Given the description of an element on the screen output the (x, y) to click on. 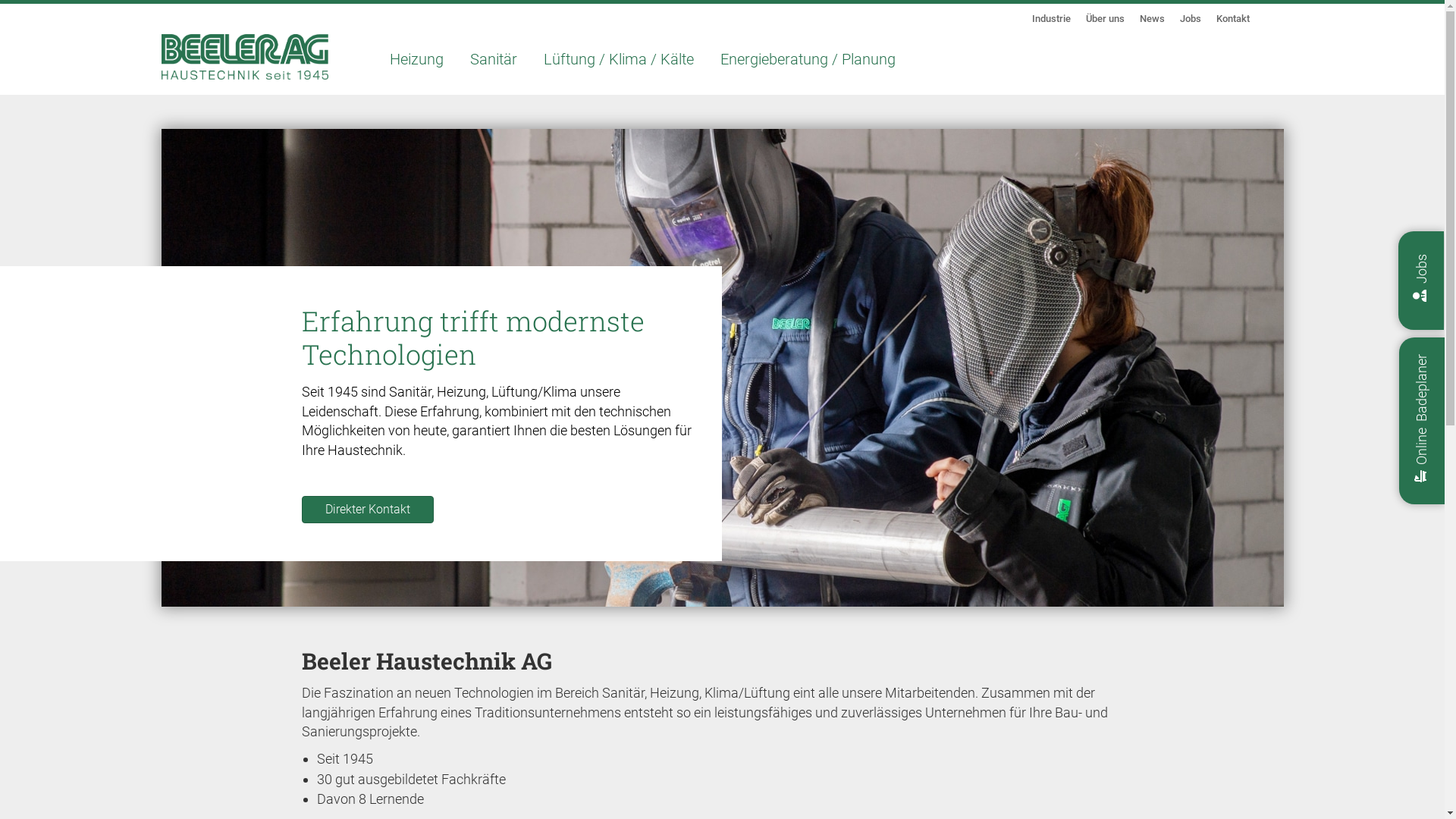
Energieberatung / Planung Element type: text (807, 59)
Jobs Element type: text (1190, 18)
Industrie Element type: text (1050, 18)
Beeler AG Element type: hover (243, 56)
News Element type: text (1151, 18)
Heizung Element type: text (415, 59)
Direkter Kontakt Element type: text (367, 509)
Kontakt Element type: text (1232, 18)
